Given the description of an element on the screen output the (x, y) to click on. 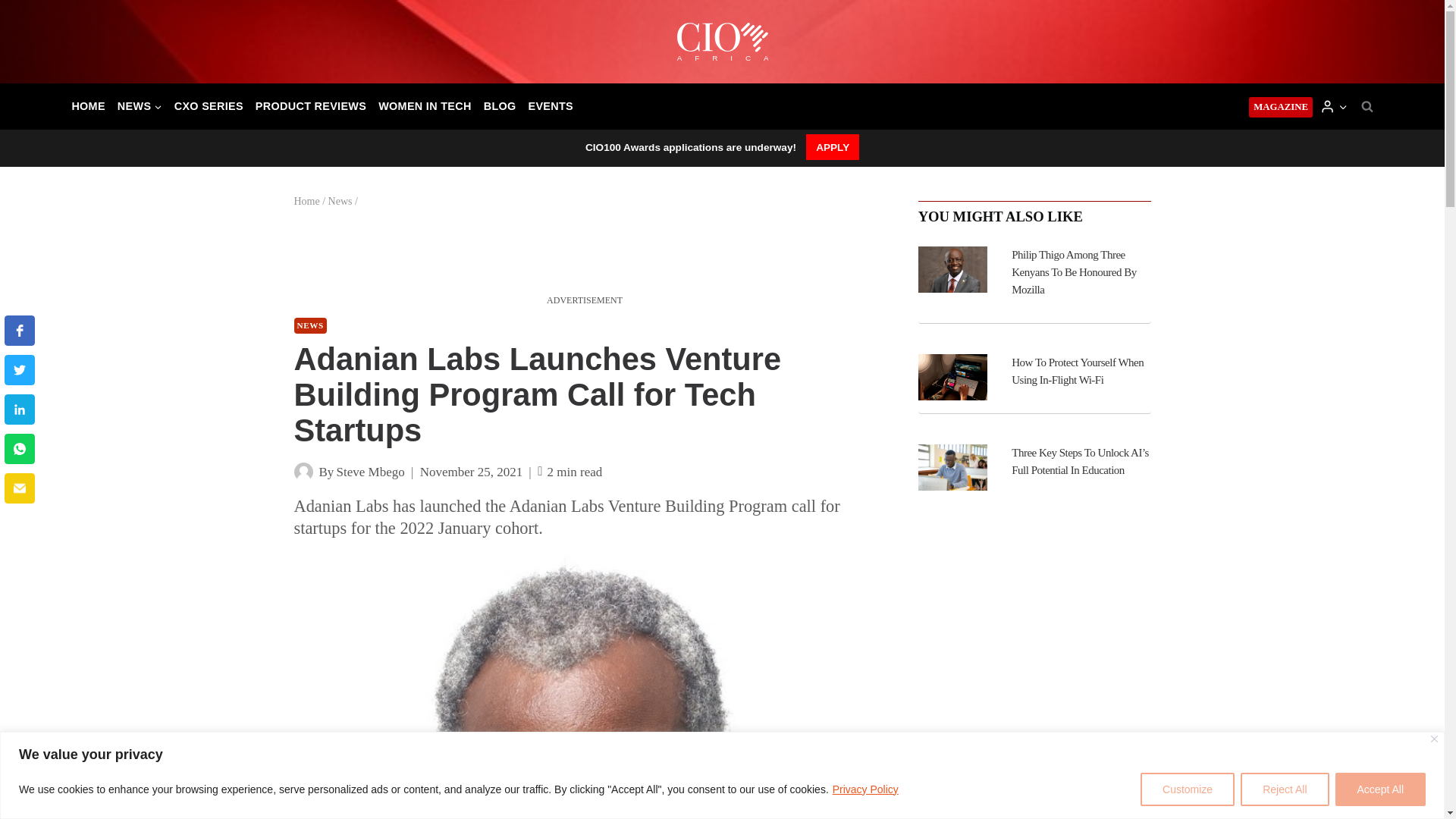
Facebook (19, 330)
LinkedIn (19, 409)
BLOG (499, 106)
MAGAZINE (1281, 107)
Customize (1187, 788)
3rd party ad content (584, 257)
HOME (87, 106)
WhatsApp (19, 449)
Reject All (1283, 788)
NEWS (140, 106)
